Given the description of an element on the screen output the (x, y) to click on. 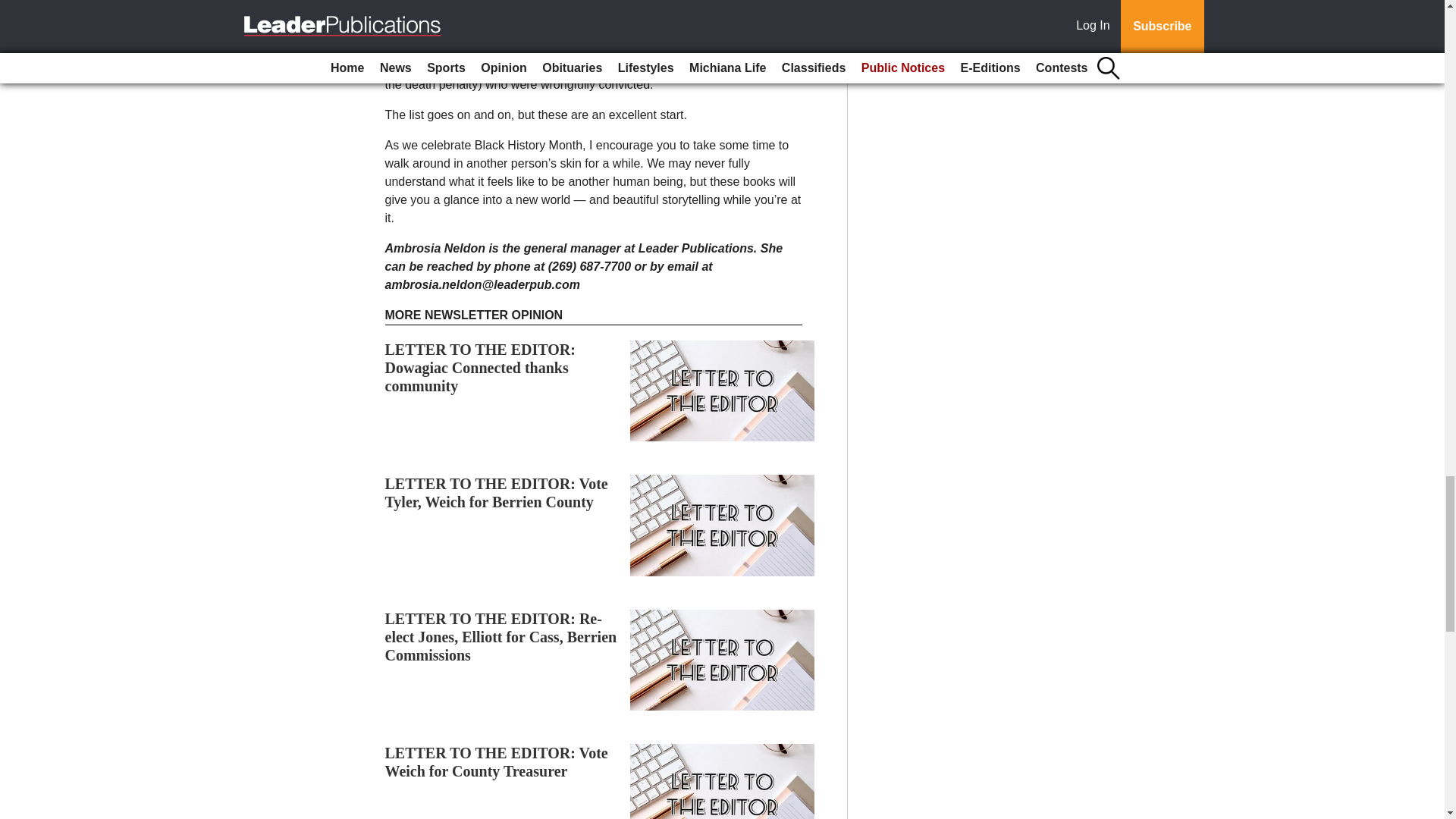
LETTER TO THE EDITOR: Vote Tyler, Weich for Berrien County (496, 492)
LETTER TO THE EDITOR: Dowagiac Connected thanks community (480, 367)
LETTER TO THE EDITOR: Dowagiac Connected thanks community (480, 367)
LETTER TO THE EDITOR: Vote Weich for County Treasurer (496, 761)
LETTER TO THE EDITOR: Vote Weich for County Treasurer (496, 761)
LETTER TO THE EDITOR: Vote Tyler, Weich for Berrien County (496, 492)
